Given the description of an element on the screen output the (x, y) to click on. 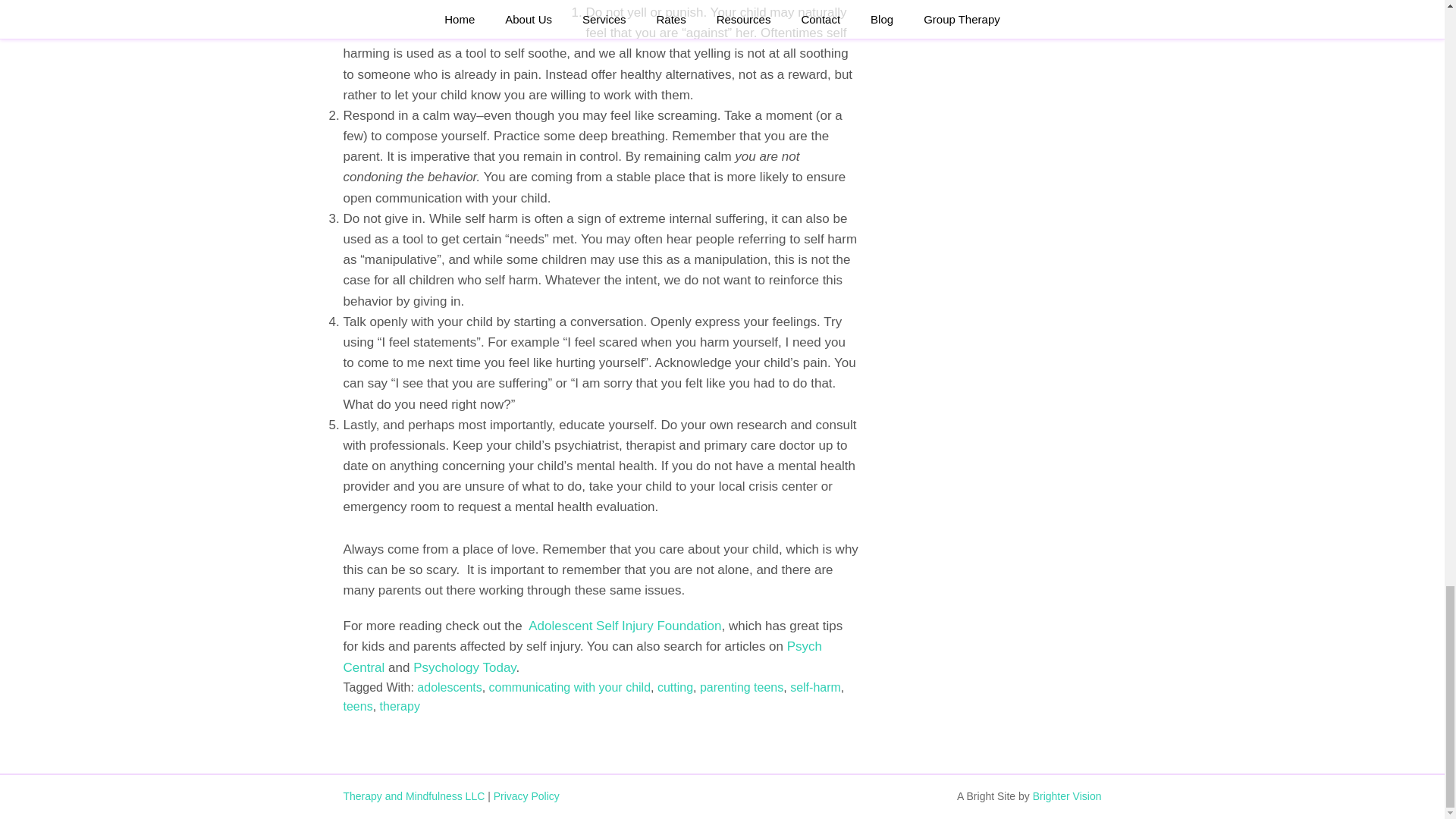
Psych Central (582, 656)
Adolescent Self Injury Foundation (624, 626)
